Given the description of an element on the screen output the (x, y) to click on. 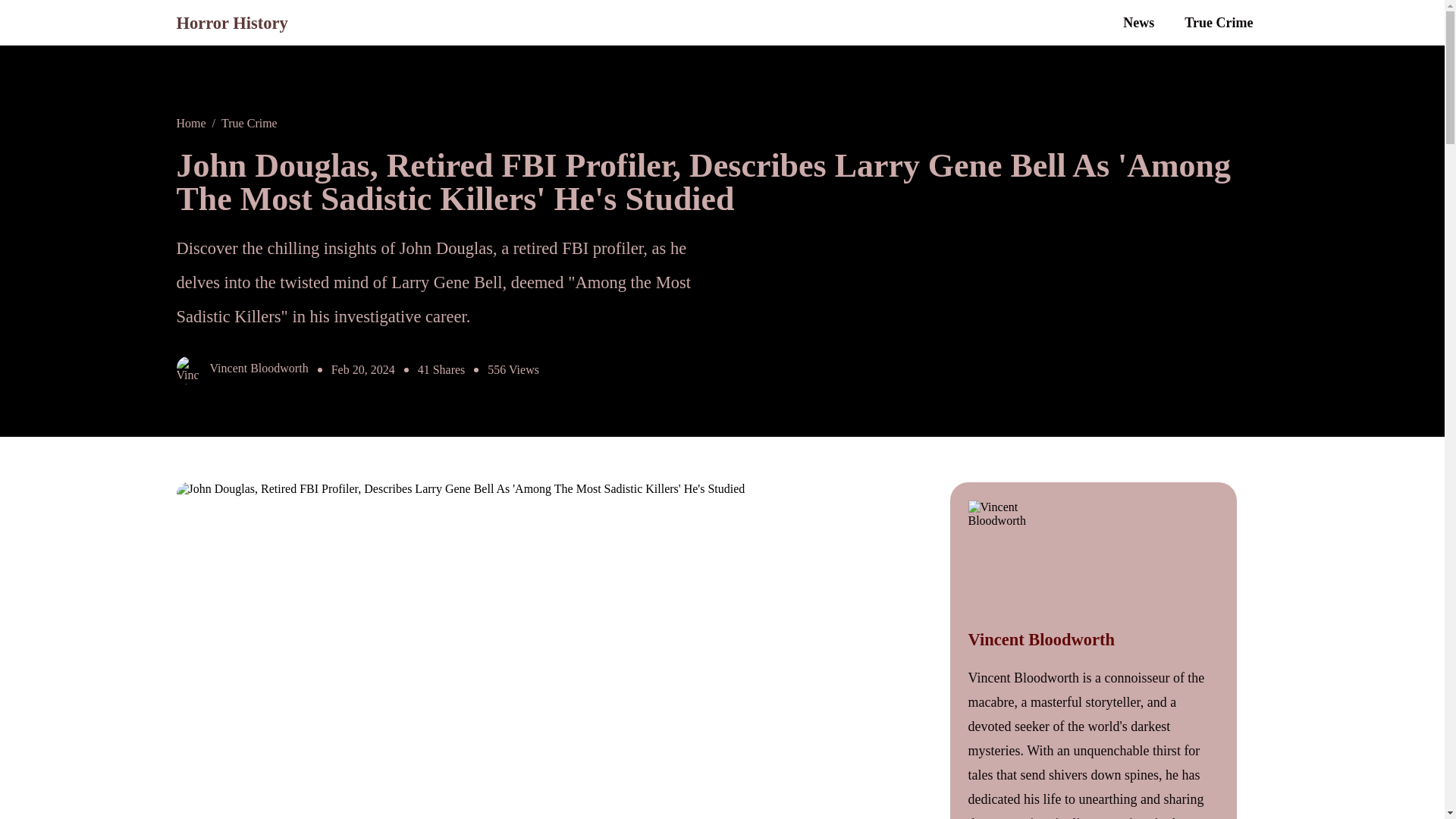
True Crime (1218, 22)
Home (190, 123)
Horror History (231, 22)
News (1138, 22)
True Crime (249, 123)
Last updated on Feb 20, 2024 (362, 369)
